Given the description of an element on the screen output the (x, y) to click on. 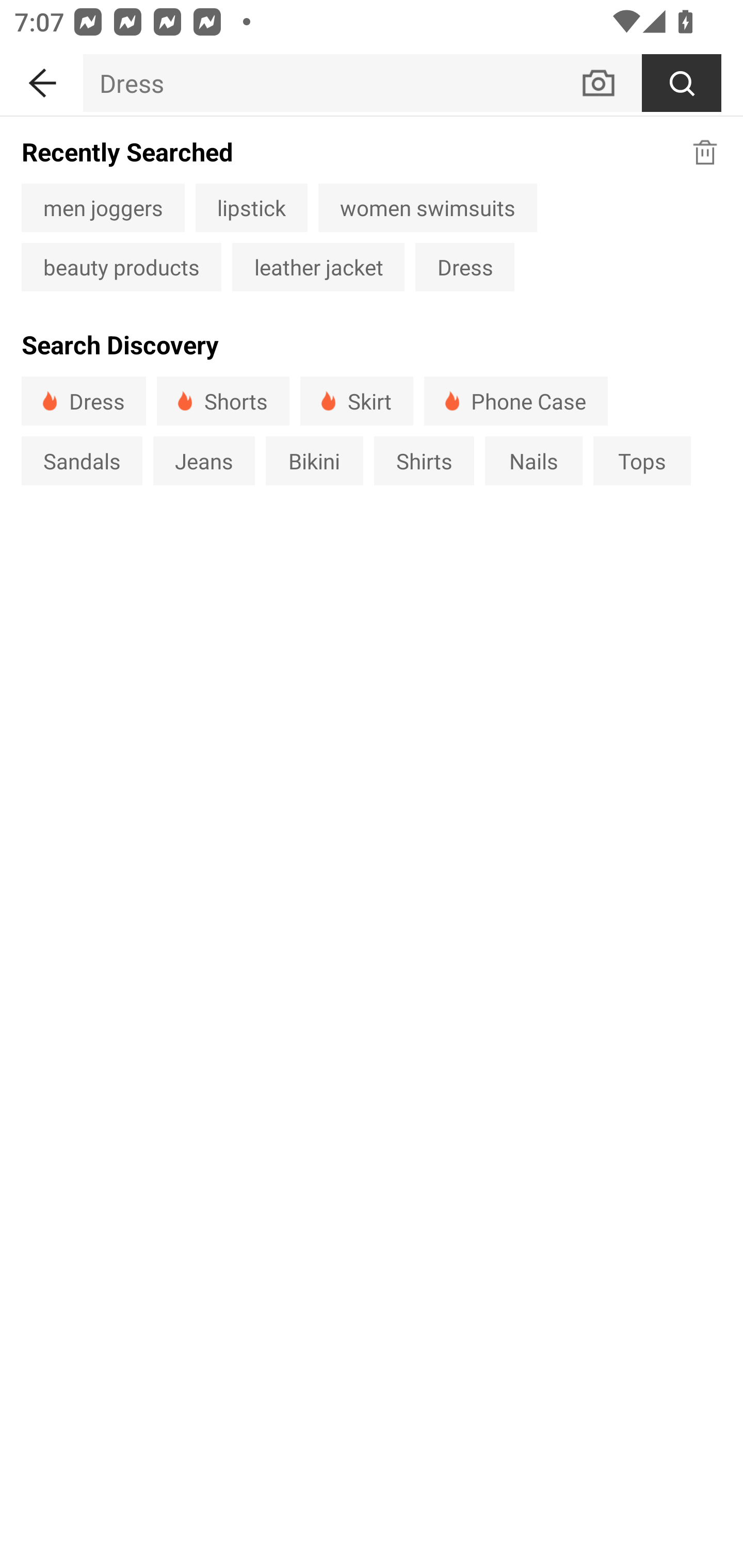
BACK (41, 79)
Dress (330, 82)
men joggers (103, 207)
lipstick (251, 207)
women swimsuits (427, 207)
beauty products (121, 267)
leather jacket (317, 267)
Dress (464, 267)
Dress (83, 400)
Shorts (222, 400)
Skirt (356, 400)
Phone Case (515, 400)
Sandals (81, 460)
Jeans (203, 460)
Bikini (314, 460)
Shirts (423, 460)
Nails (533, 460)
Tops (641, 460)
